Given the description of an element on the screen output the (x, y) to click on. 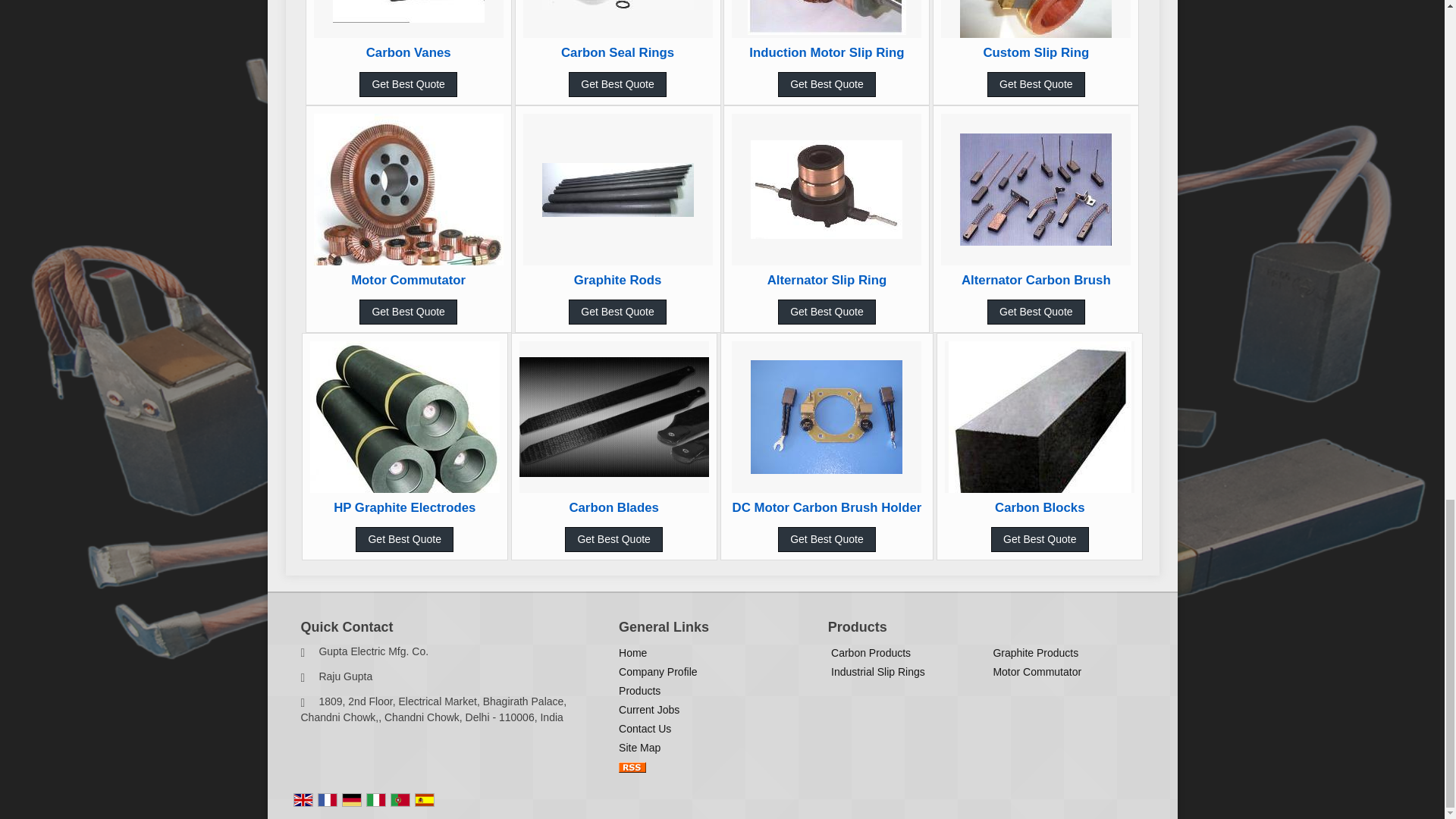
Get Best Quote (408, 84)
Carbon Vanes (408, 52)
Induction Motor Slip Ring (826, 52)
Carbon Seal Rings (617, 52)
Get Best Quote (826, 84)
Get Best Quote (617, 84)
